Given the description of an element on the screen output the (x, y) to click on. 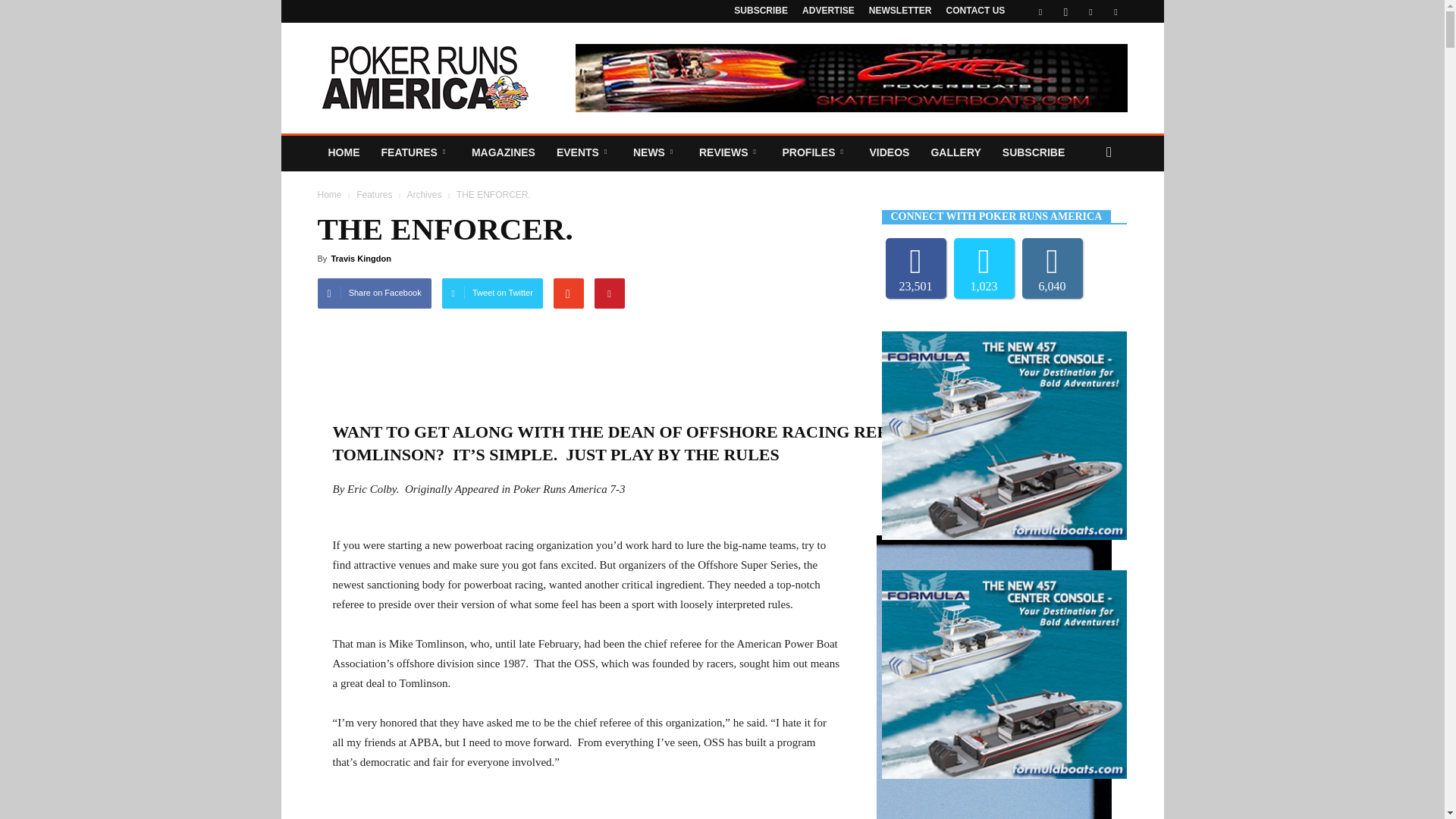
Youtube (1114, 11)
NEWSLETTER (900, 9)
Twitter (1090, 11)
SUBSCRIBE (760, 9)
Instagram (1065, 11)
Facebook (1040, 11)
ADVERTISE (828, 9)
